Given the description of an element on the screen output the (x, y) to click on. 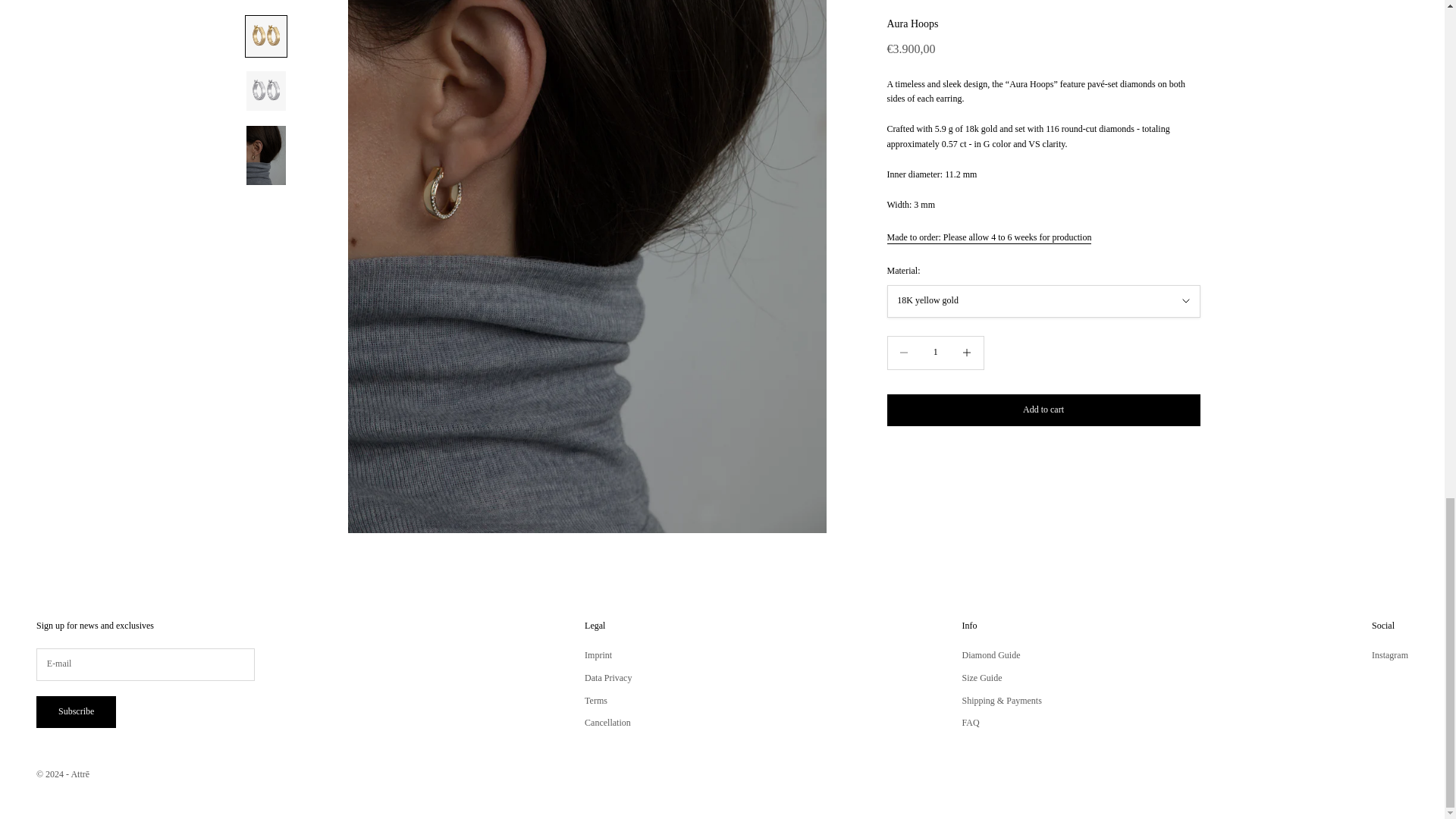
Subscribe (76, 712)
Imprint (598, 655)
